Given the description of an element on the screen output the (x, y) to click on. 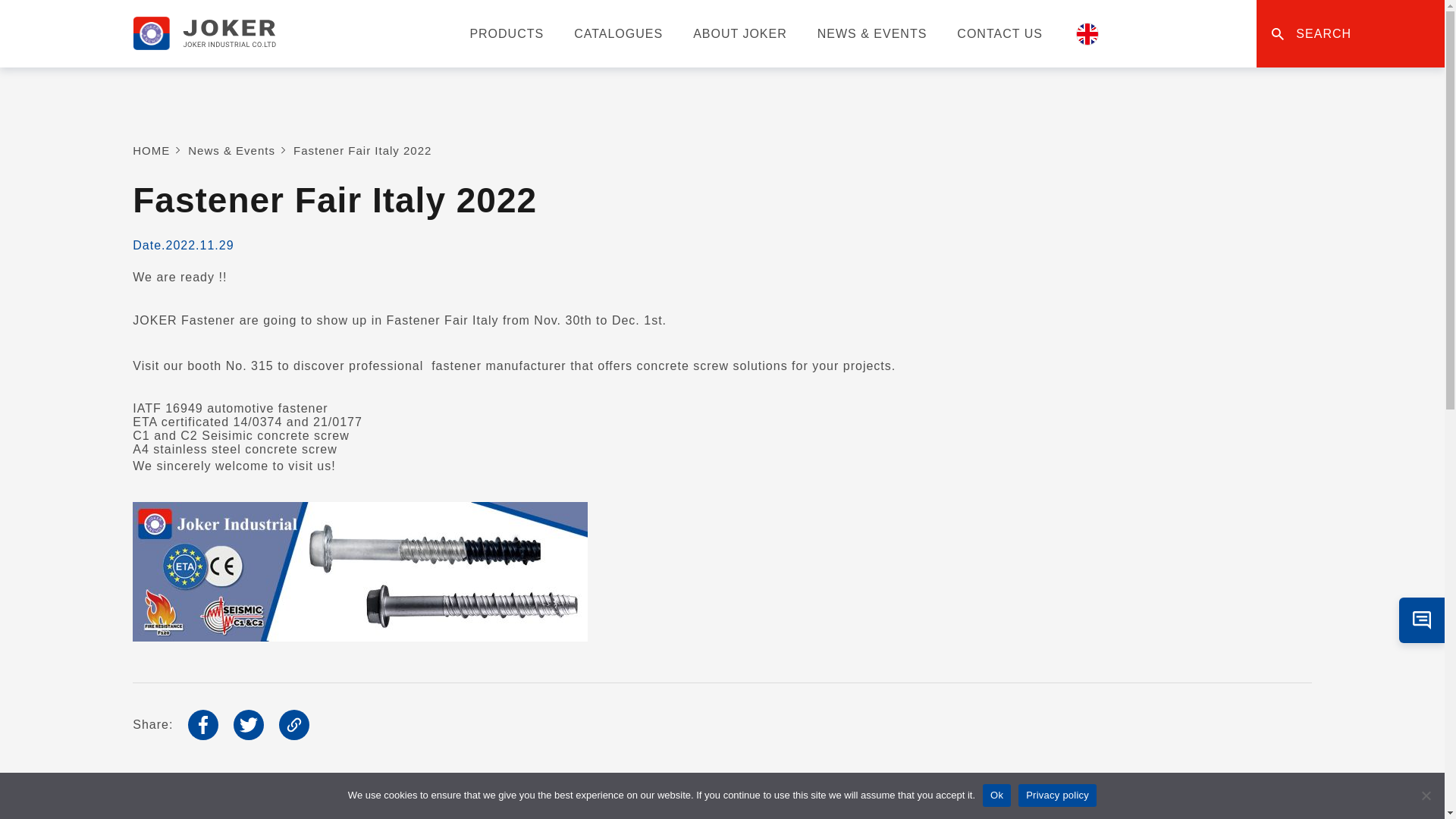
JOKER INDUSTRIAL CO., LTD (204, 33)
PRODUCTS (505, 33)
No (1425, 795)
